Given the description of an element on the screen output the (x, y) to click on. 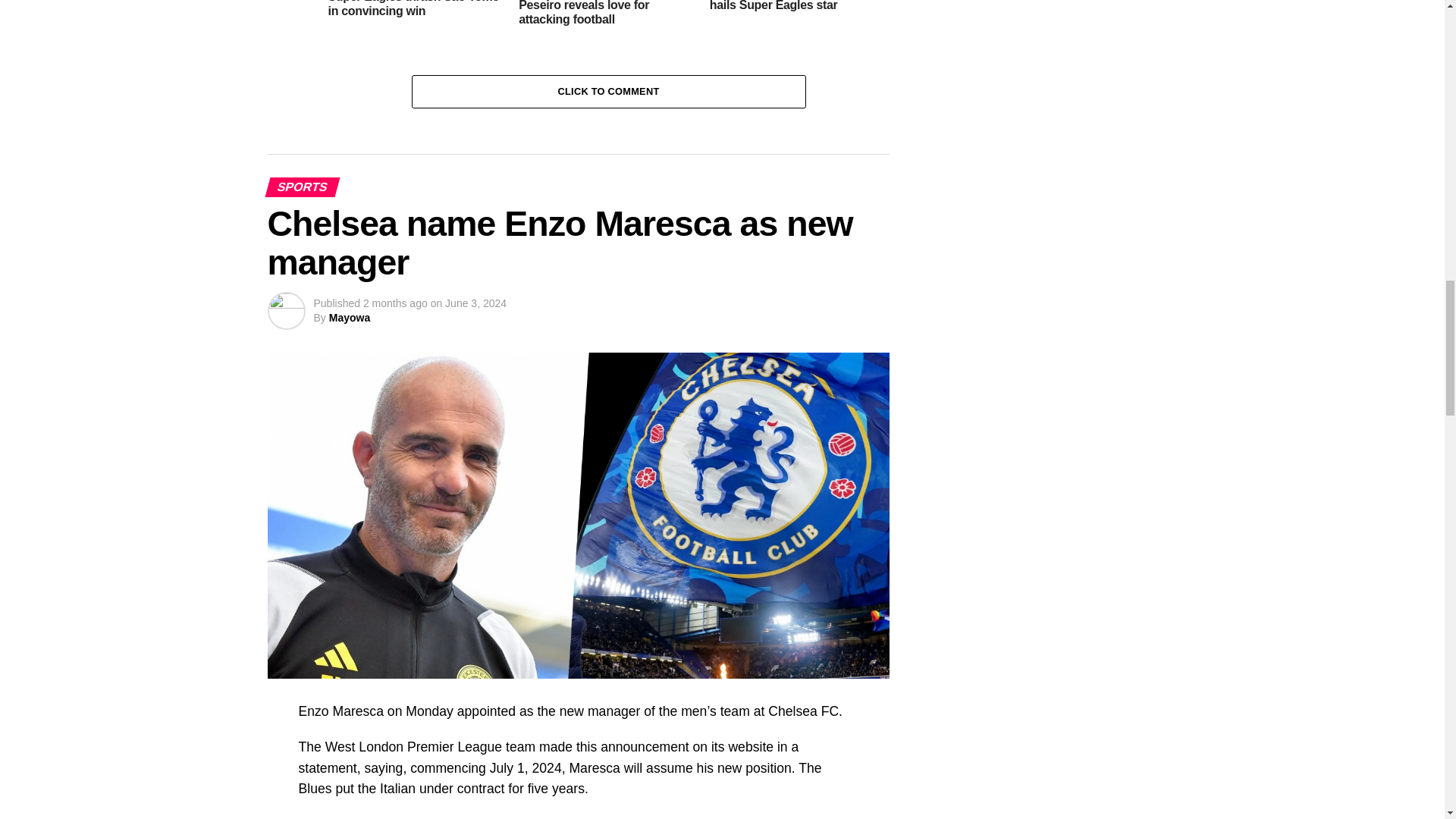
Posts by Mayowa (349, 317)
Mayowa (349, 317)
